Given the description of an element on the screen output the (x, y) to click on. 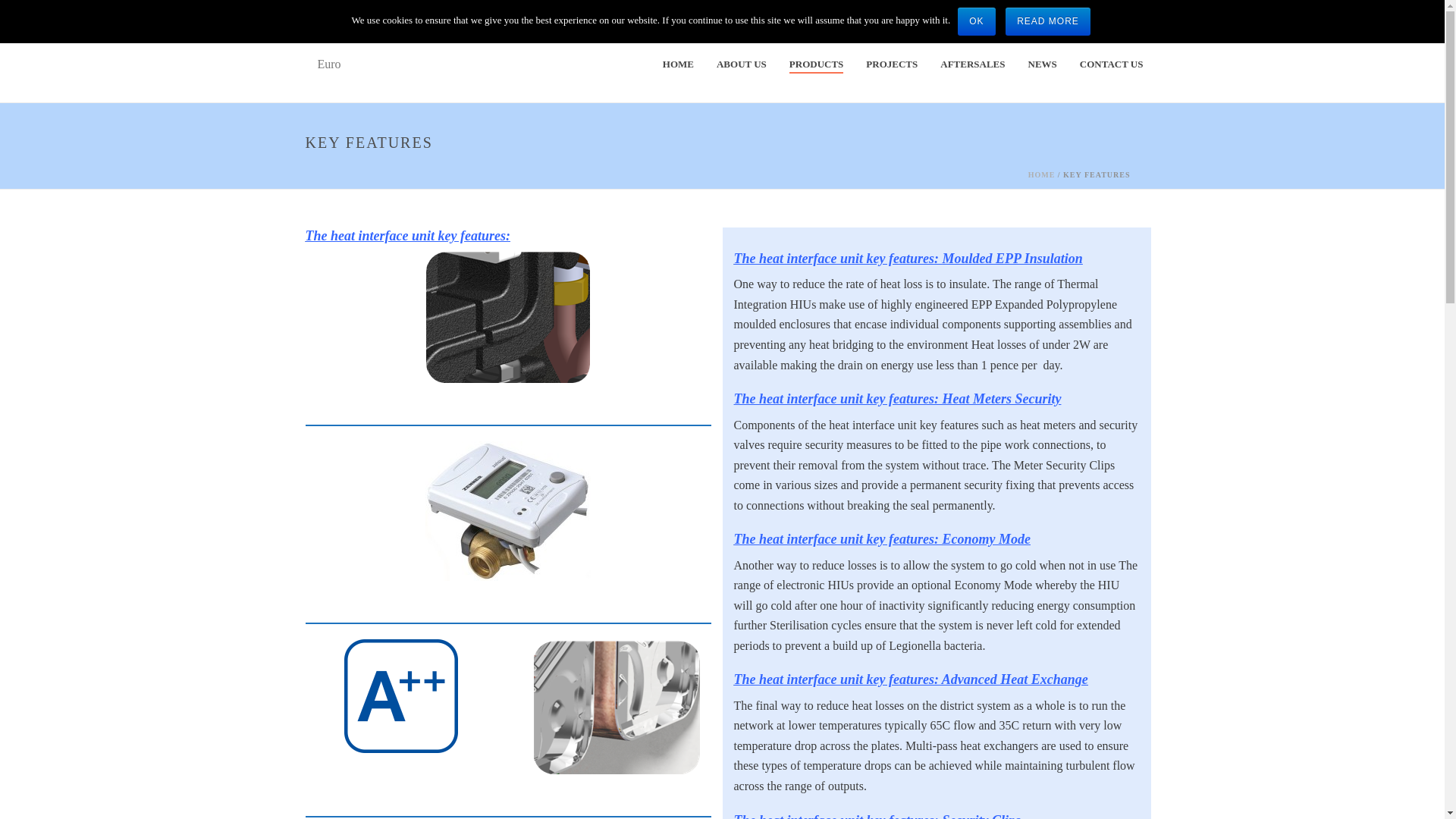
HOME (677, 64)
PRODUCTS (816, 64)
p1 (508, 317)
p2 (614, 706)
ABOUT US (740, 64)
